Given the description of an element on the screen output the (x, y) to click on. 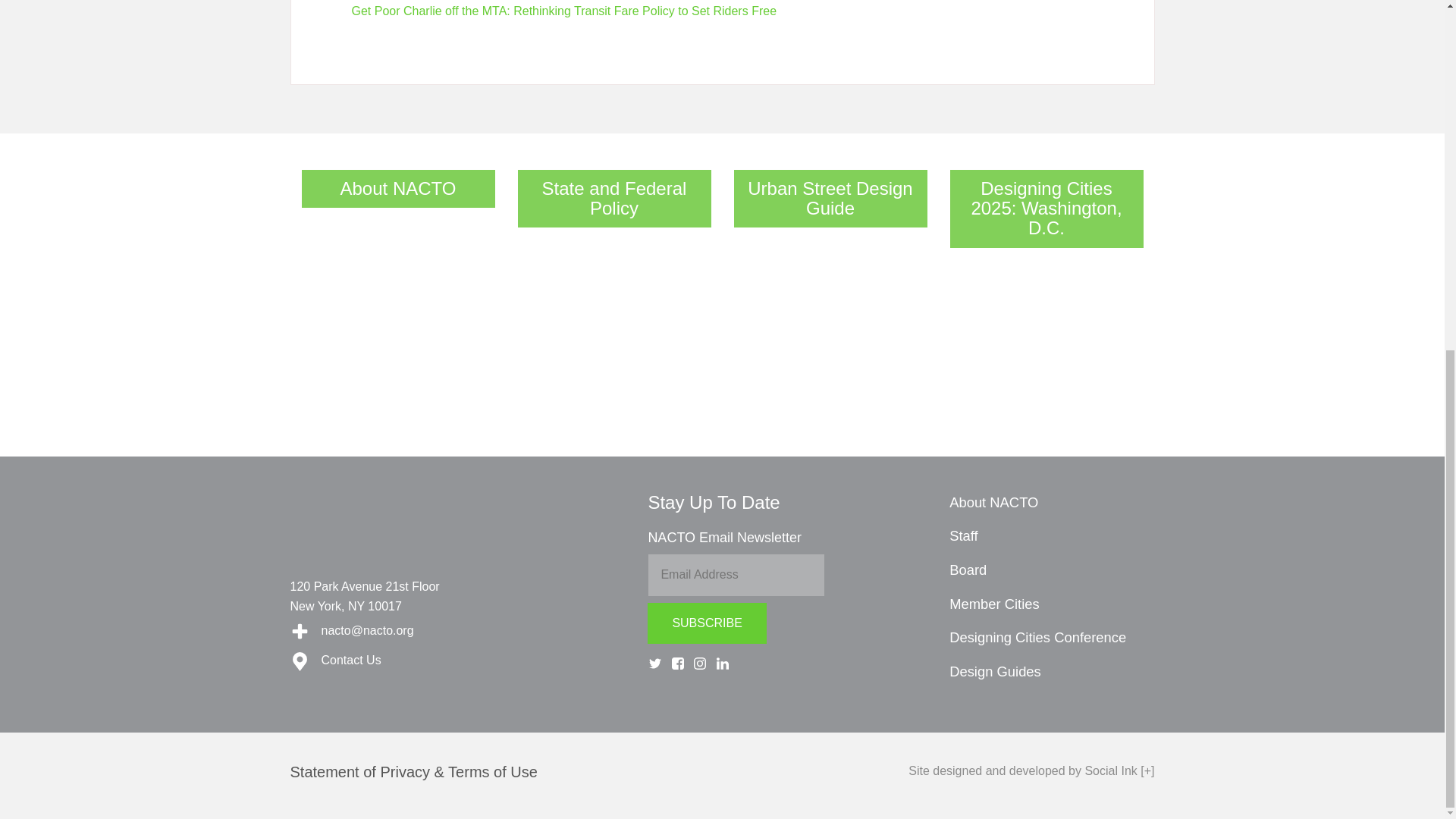
Subscribe (749, 50)
Subscribe (706, 623)
